Given the description of an element on the screen output the (x, y) to click on. 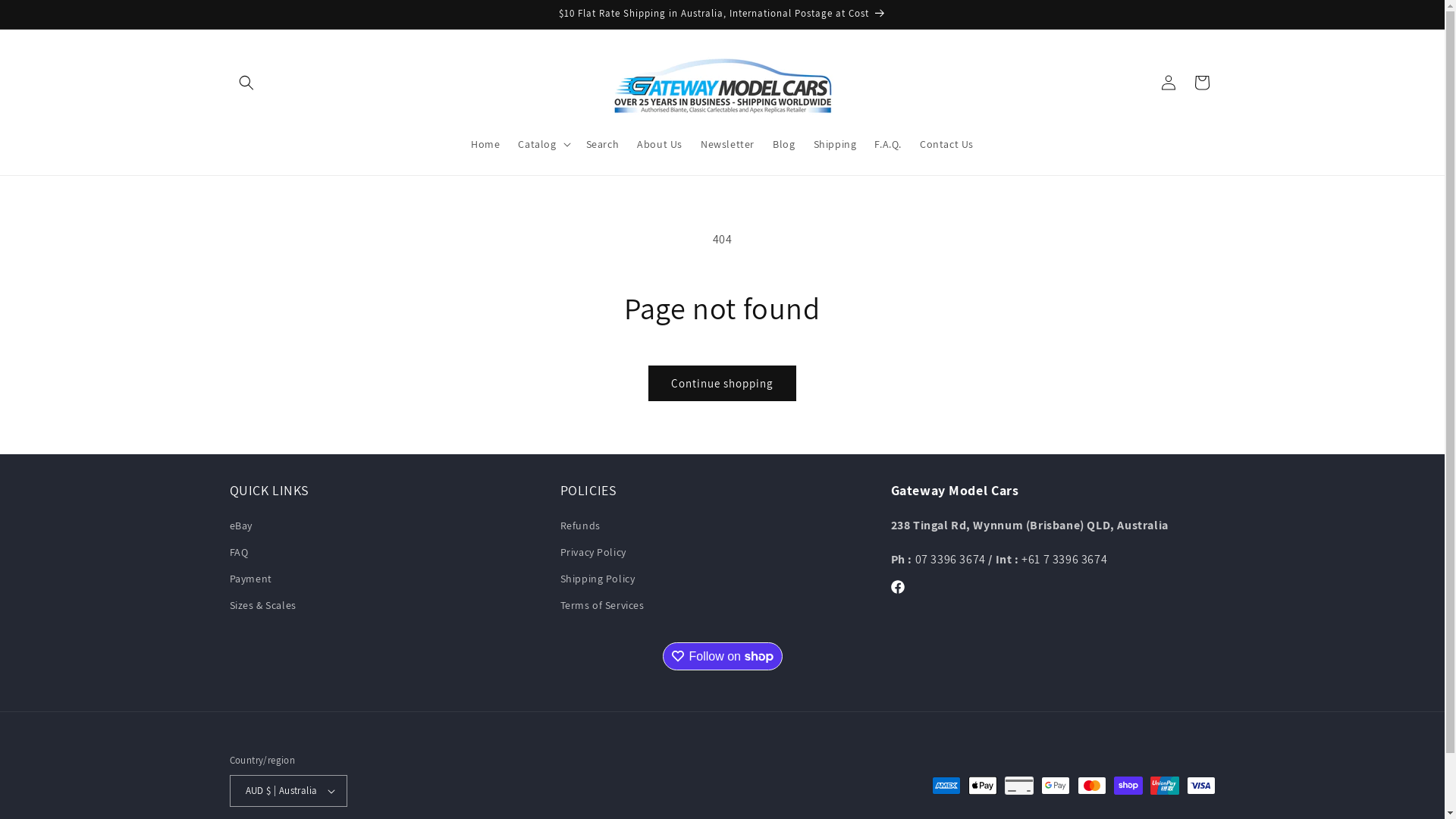
Blog Element type: text (783, 143)
Contact Us Element type: text (946, 143)
eBay Element type: text (240, 527)
F.A.Q. Element type: text (887, 143)
Shipping Element type: text (834, 143)
Facebook Element type: text (897, 586)
Cart Element type: text (1200, 81)
Search Element type: text (602, 143)
About Us Element type: text (659, 143)
Home Element type: text (484, 143)
Log in Element type: text (1167, 81)
Continue shopping Element type: text (722, 383)
+61 7 3396 3674 Element type: text (1064, 559)
AUD $ | Australia Element type: text (288, 790)
Newsletter Element type: text (727, 143)
Payment Element type: text (250, 578)
Refunds Element type: text (579, 527)
07 3396 3674 Element type: text (951, 559)
FAQ Element type: text (238, 552)
Terms of Services Element type: text (601, 605)
Sizes & Scales Element type: text (262, 605)
Privacy Policy Element type: text (592, 552)
Shipping Policy Element type: text (596, 578)
